Given the description of an element on the screen output the (x, y) to click on. 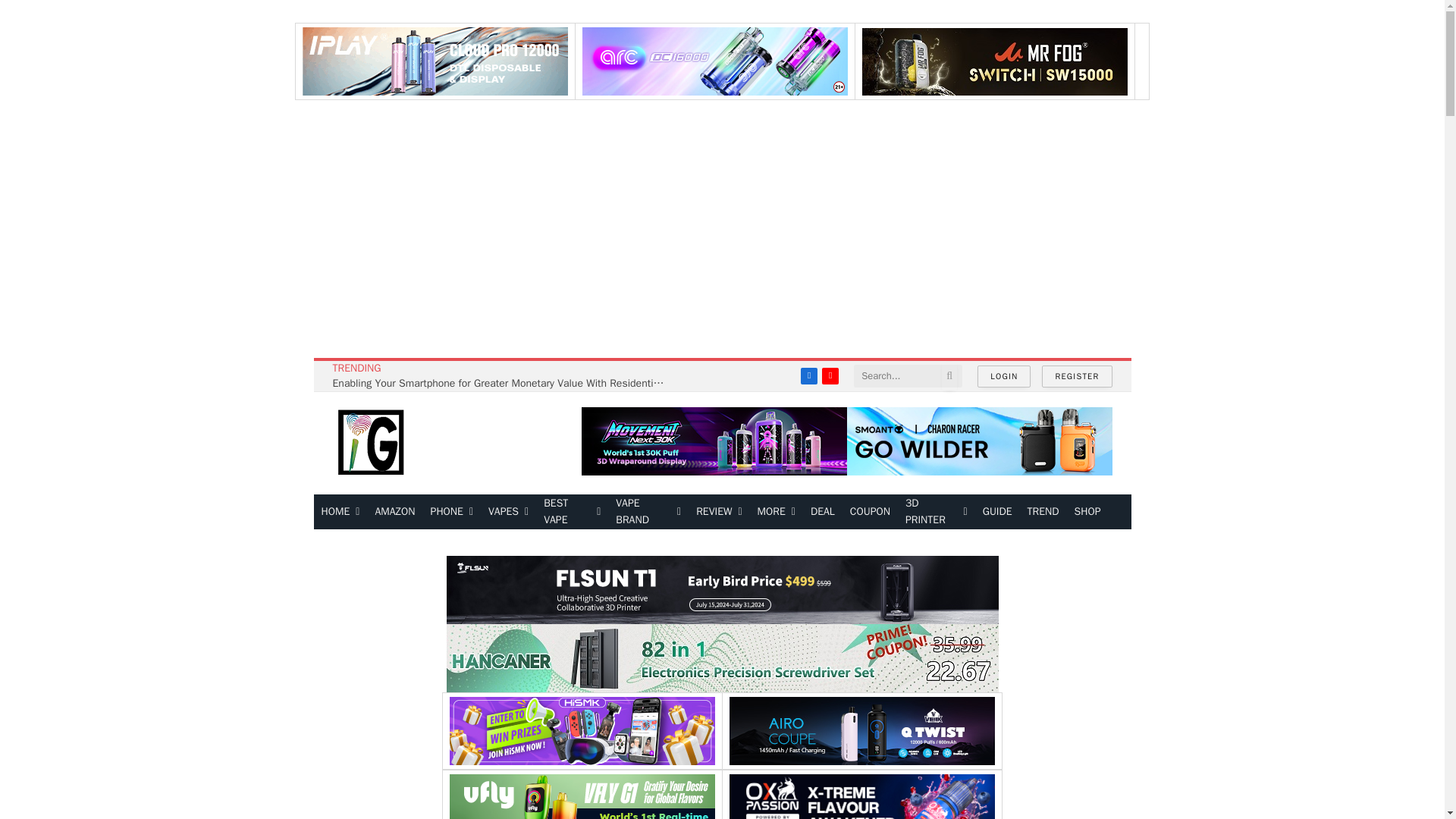
Facebook (808, 375)
YouTube (830, 375)
PHONE (451, 511)
REGISTER (1077, 376)
LOGIN (1003, 376)
HOME (341, 511)
AMAZON (394, 511)
